Given the description of an element on the screen output the (x, y) to click on. 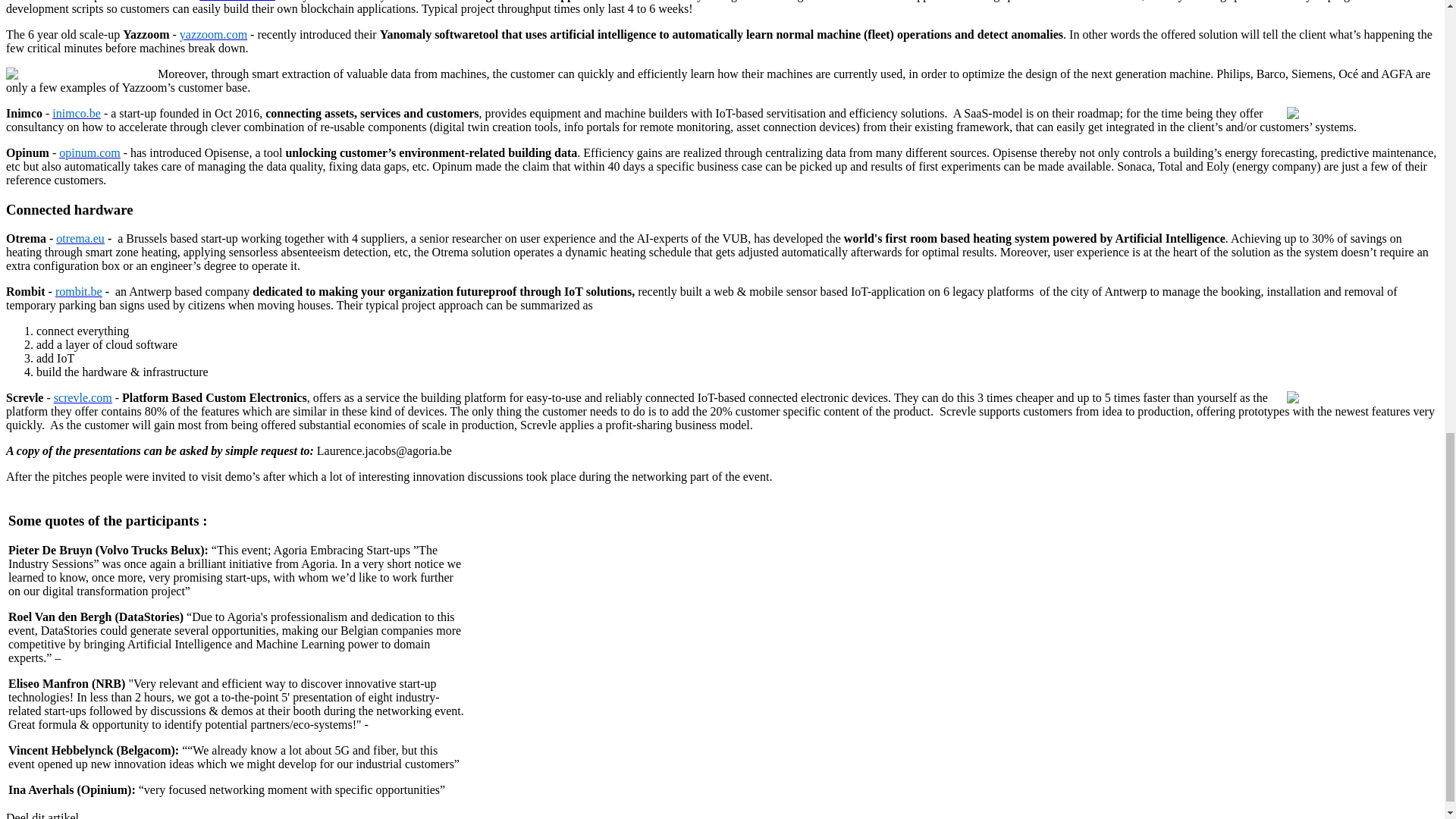
opinum.com (89, 152)
SettleMint.com (237, 0)
otrema.eu (80, 237)
screvle.com (82, 397)
inimco.be (76, 113)
rombit.be (78, 291)
yazzoom.com (213, 33)
